Given the description of an element on the screen output the (x, y) to click on. 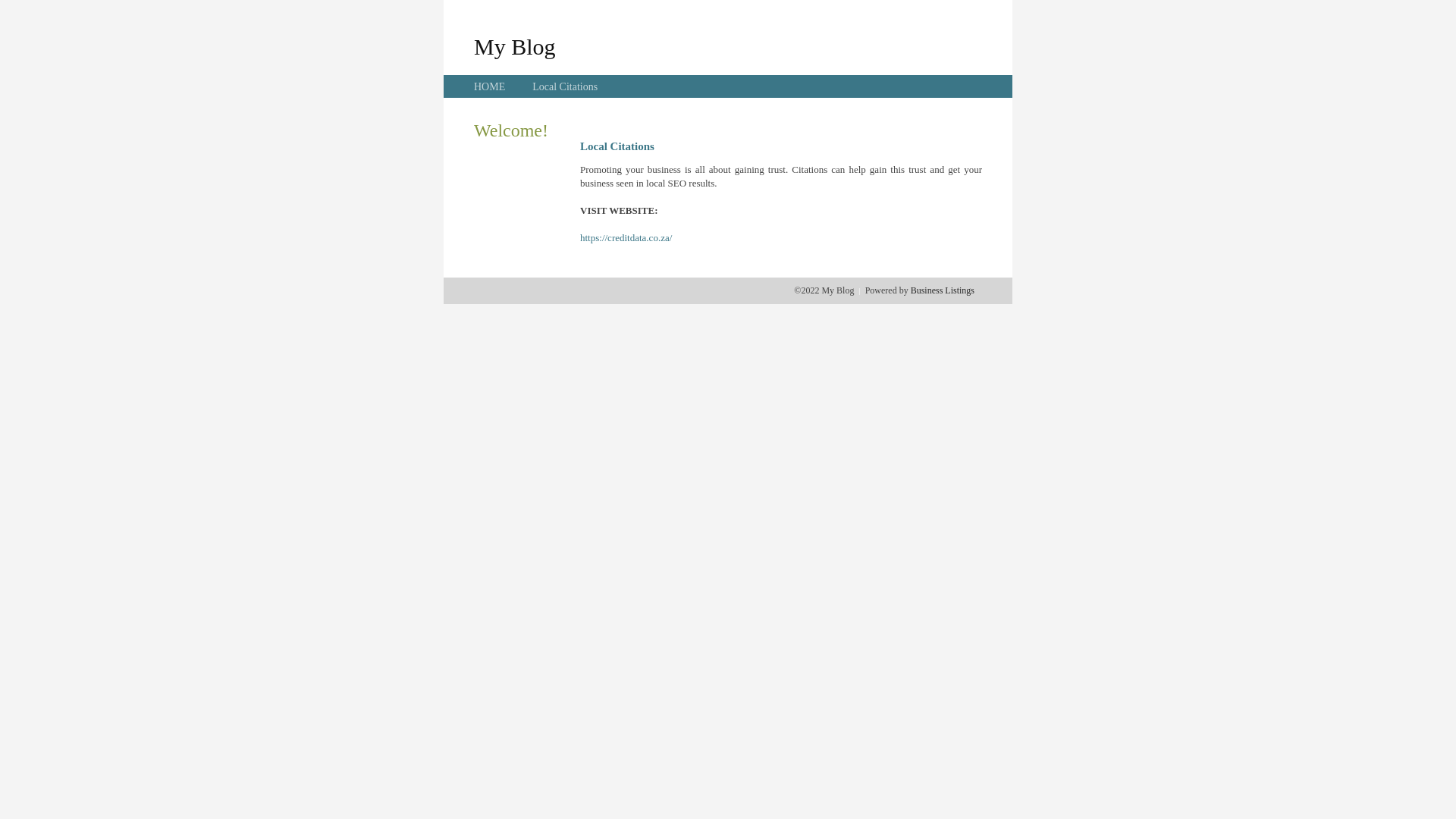
Local Citations Element type: text (564, 86)
https://creditdata.co.za/ Element type: text (625, 237)
Business Listings Element type: text (942, 290)
My Blog Element type: text (514, 46)
HOME Element type: text (489, 86)
